Given the description of an element on the screen output the (x, y) to click on. 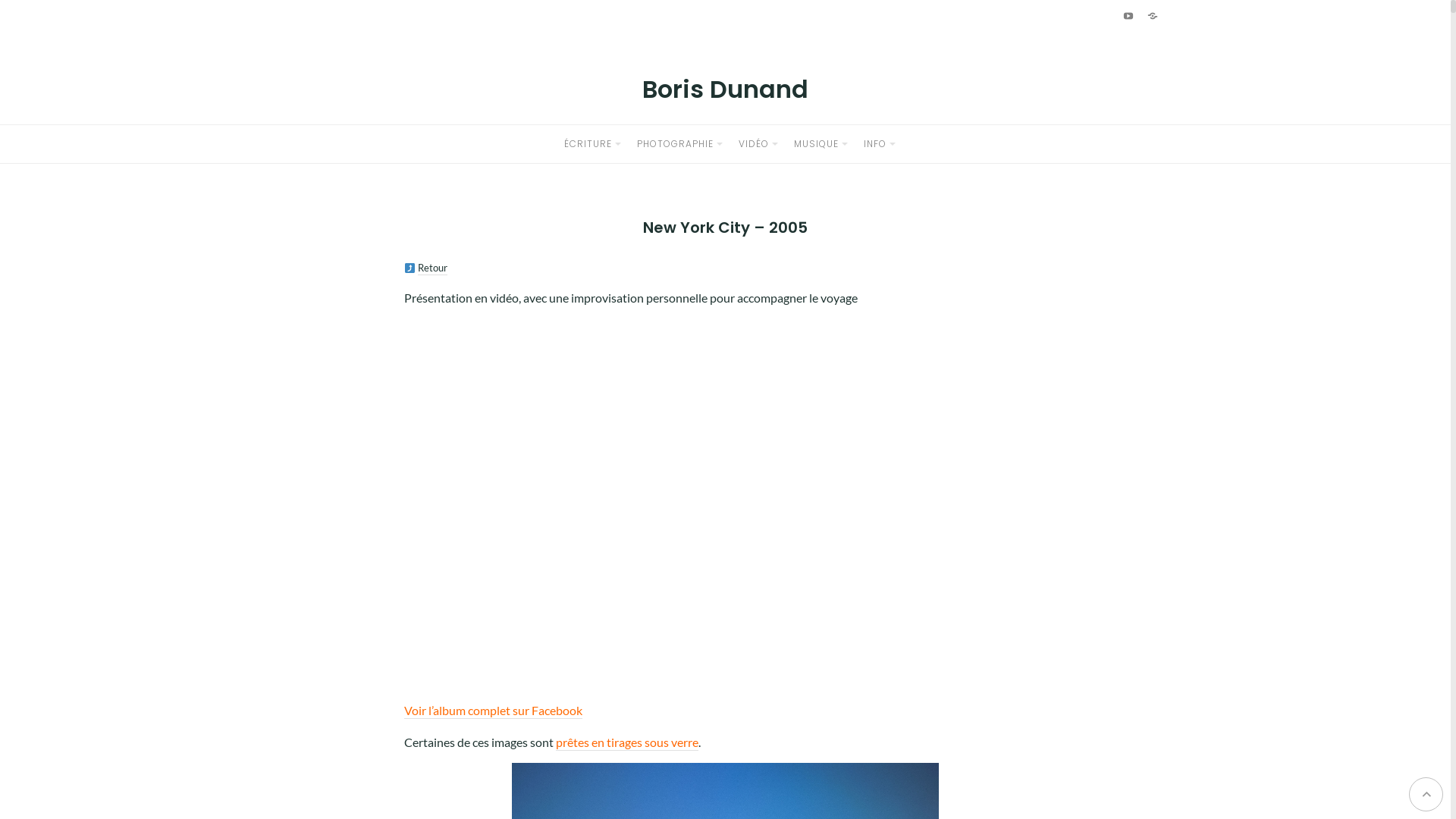
Patreon Element type: text (1151, 15)
Youtube Element type: text (21, 232)
Youtube Element type: text (1127, 15)
PHOTOGRAPHIE Element type: text (53, 71)
Boris Dunand Element type: text (725, 89)
PHOTOGRAPHIE Element type: text (675, 143)
Patreon Element type: text (46, 232)
INFO Element type: text (26, 188)
MUSIQUE Element type: text (37, 149)
Retour Element type: text (432, 268)
INFO Element type: text (874, 143)
MUSIQUE Element type: text (815, 143)
